Given the description of an element on the screen output the (x, y) to click on. 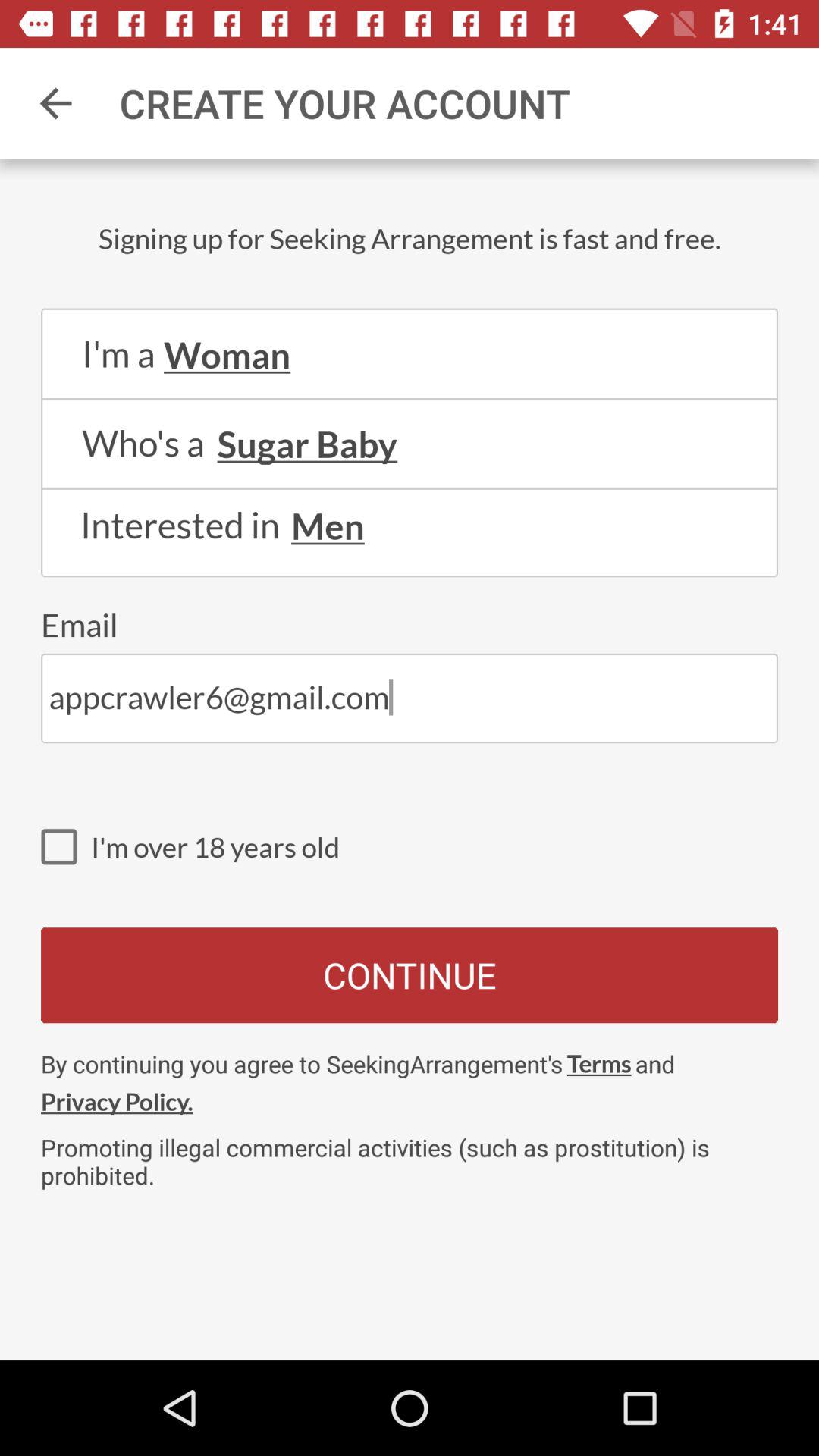
tap the item above signing up for (55, 103)
